Given the description of an element on the screen output the (x, y) to click on. 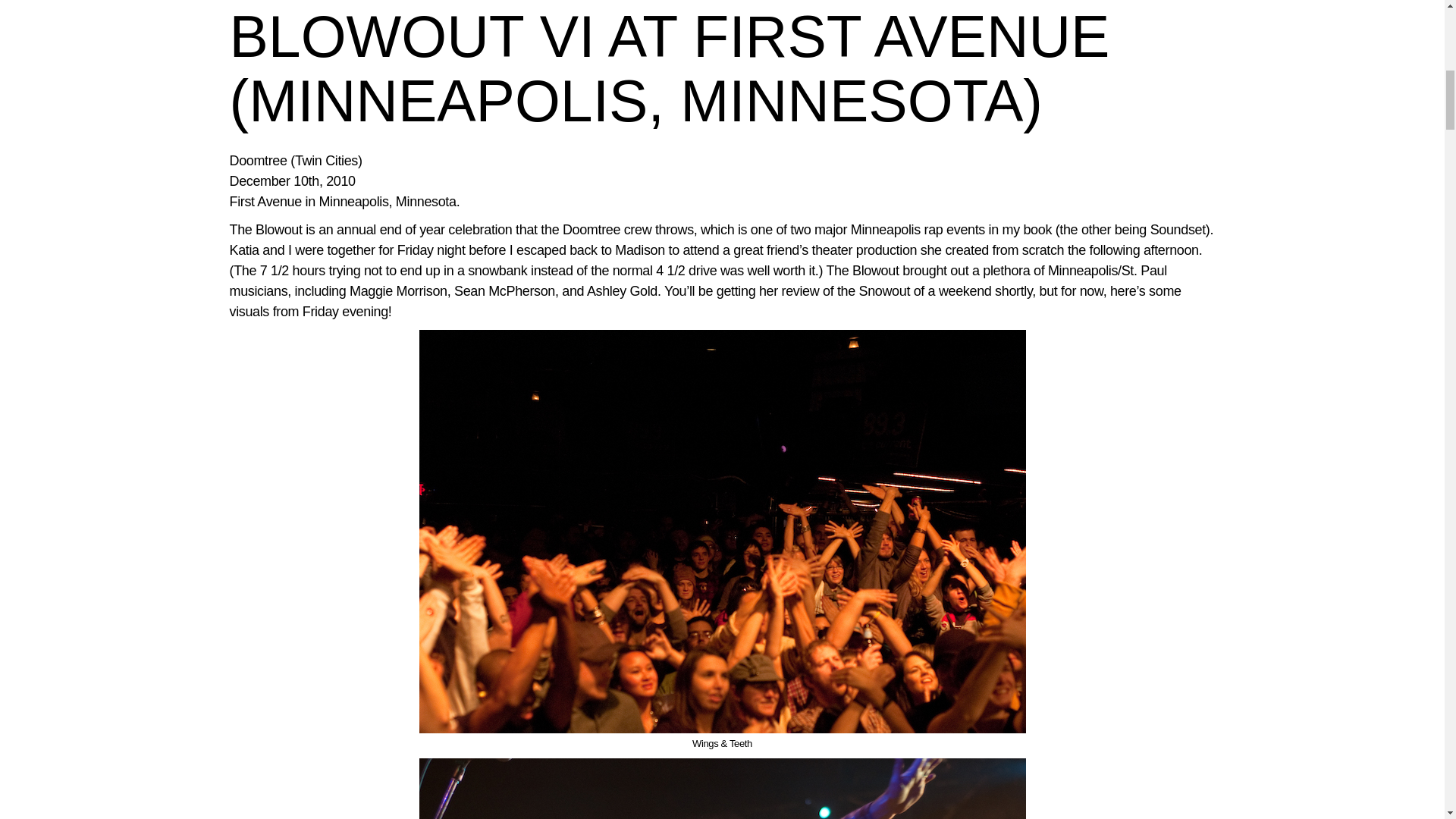
Maggie Morrison (397, 290)
Sean McPherson (504, 290)
Soundset (1177, 229)
Ashley Gold (622, 290)
First Avenue (264, 201)
